Given the description of an element on the screen output the (x, y) to click on. 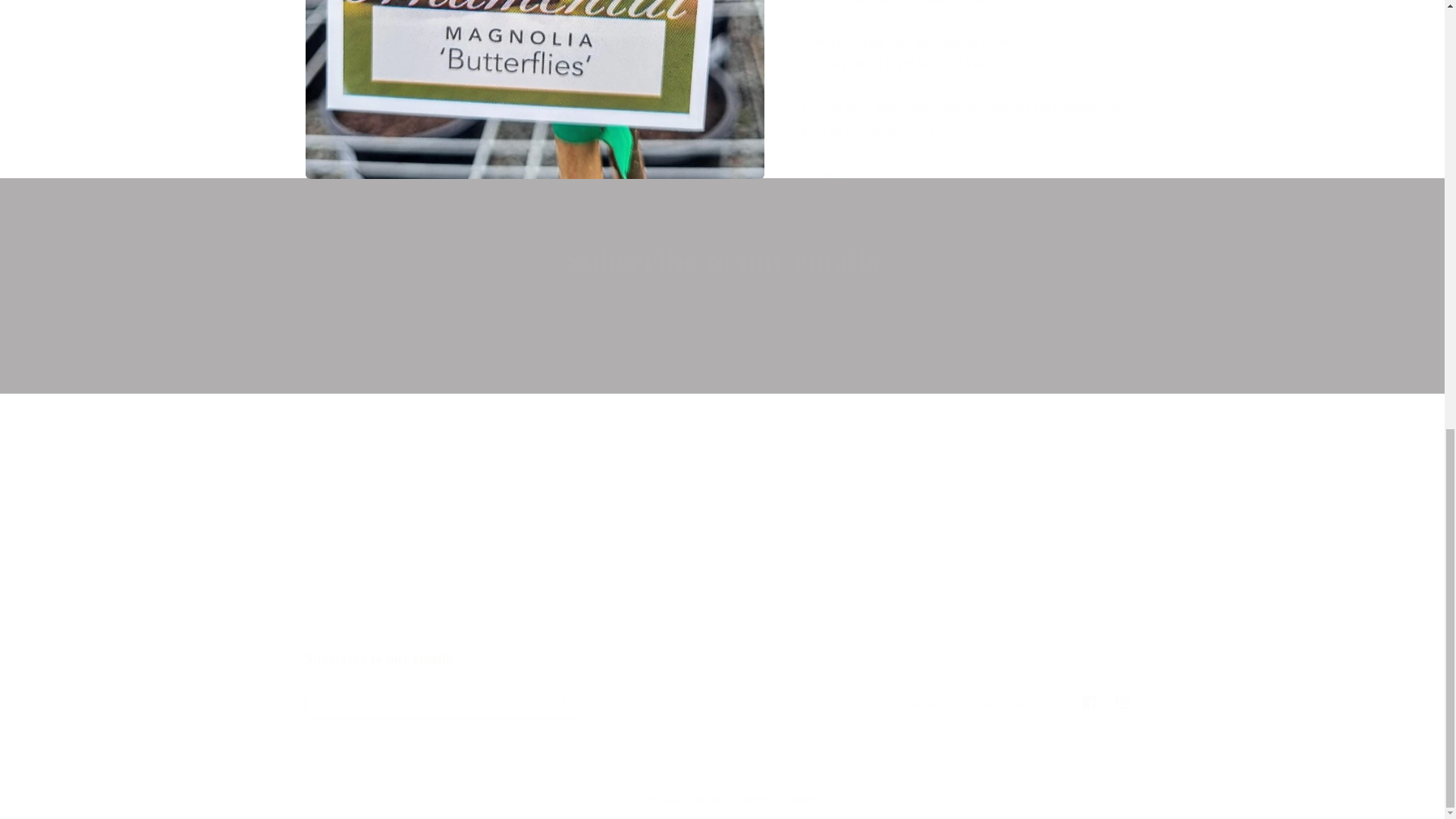
Email (722, 351)
Subscribe to our emails (721, 684)
